Given the description of an element on the screen output the (x, y) to click on. 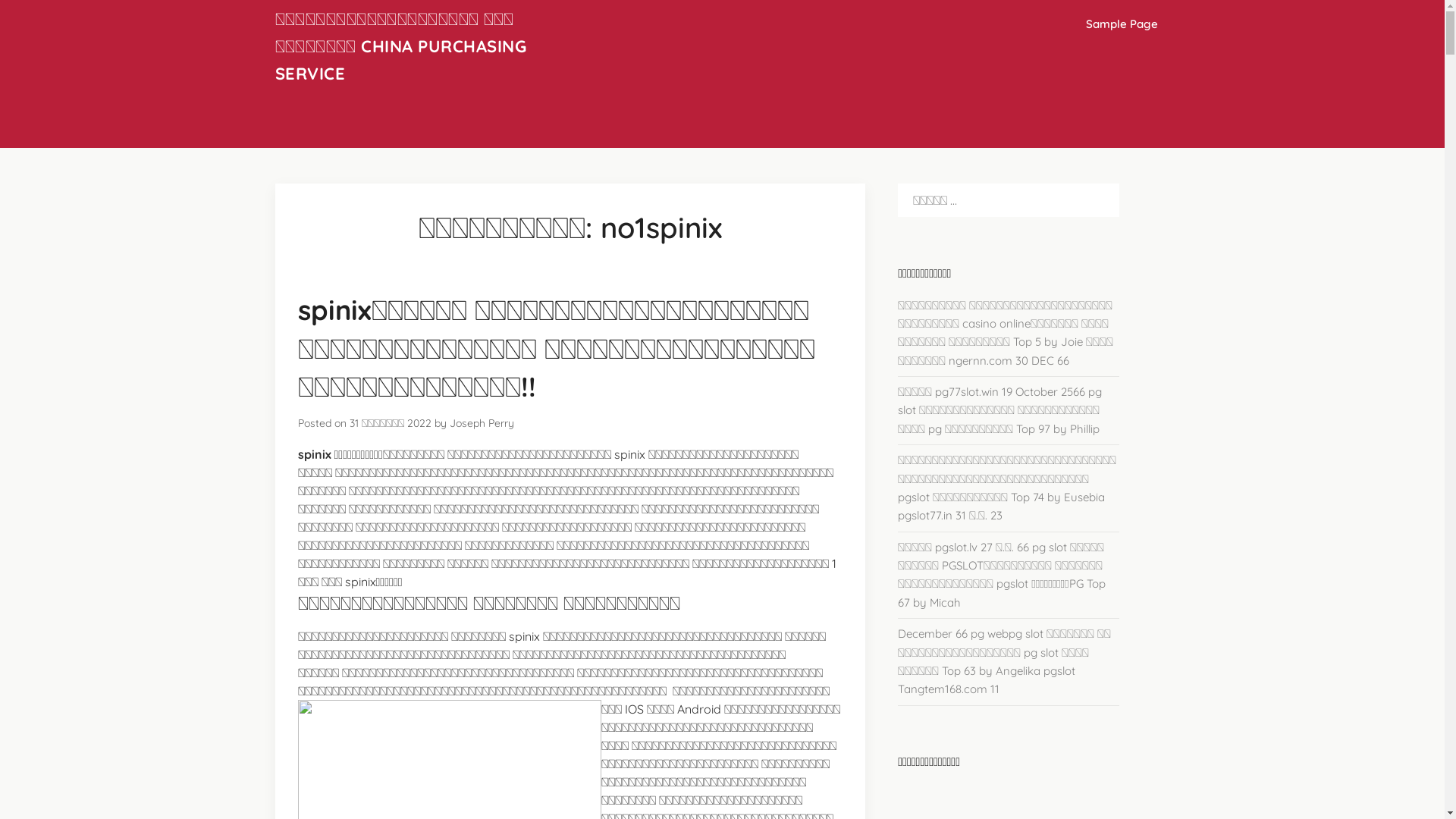
Sample Page Element type: text (1121, 24)
Joseph Perry Element type: text (480, 422)
